Given the description of an element on the screen output the (x, y) to click on. 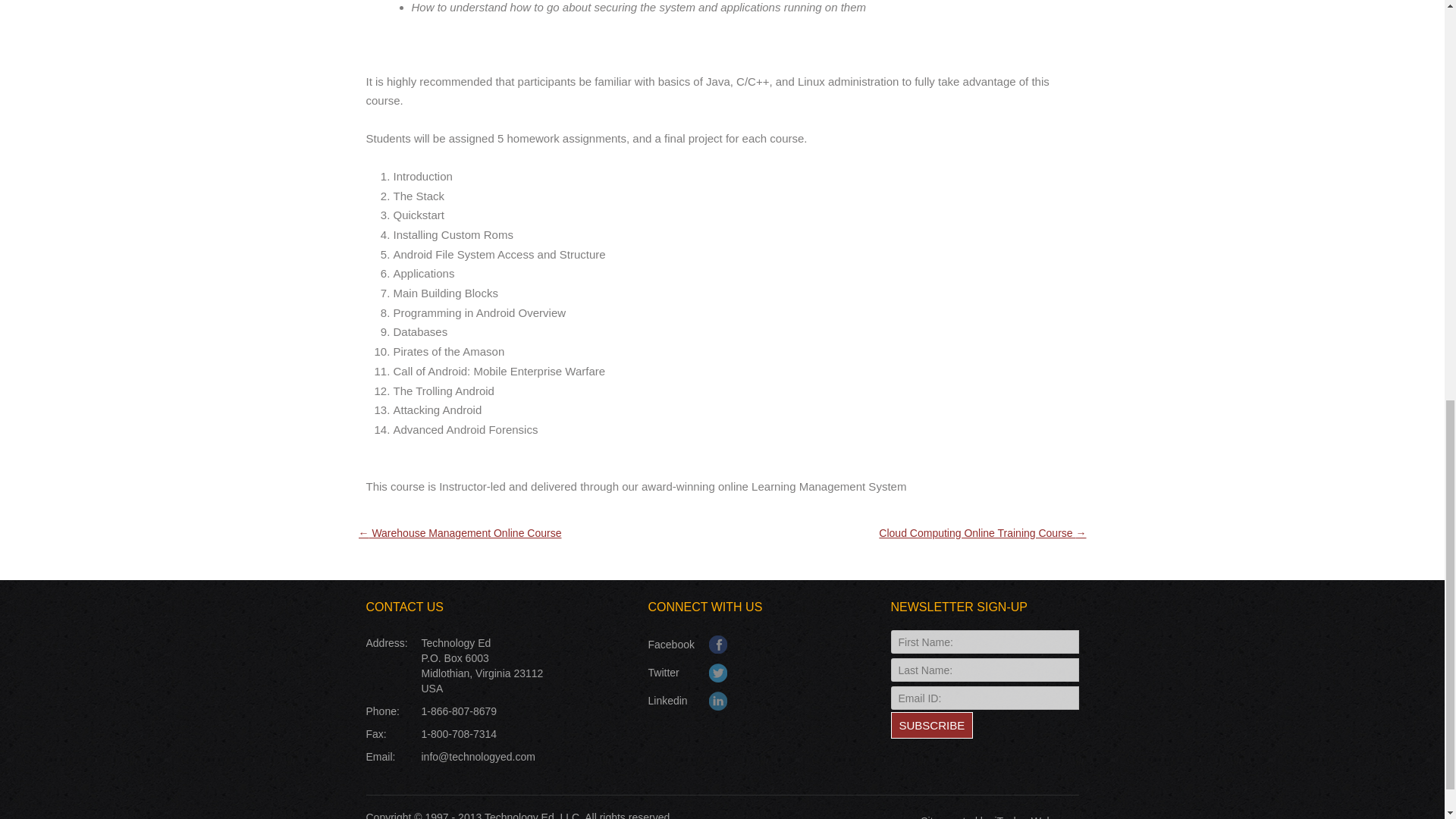
iTechnoWeb.com. (1036, 816)
Subscribe (930, 724)
Subscribe (930, 724)
